Given the description of an element on the screen output the (x, y) to click on. 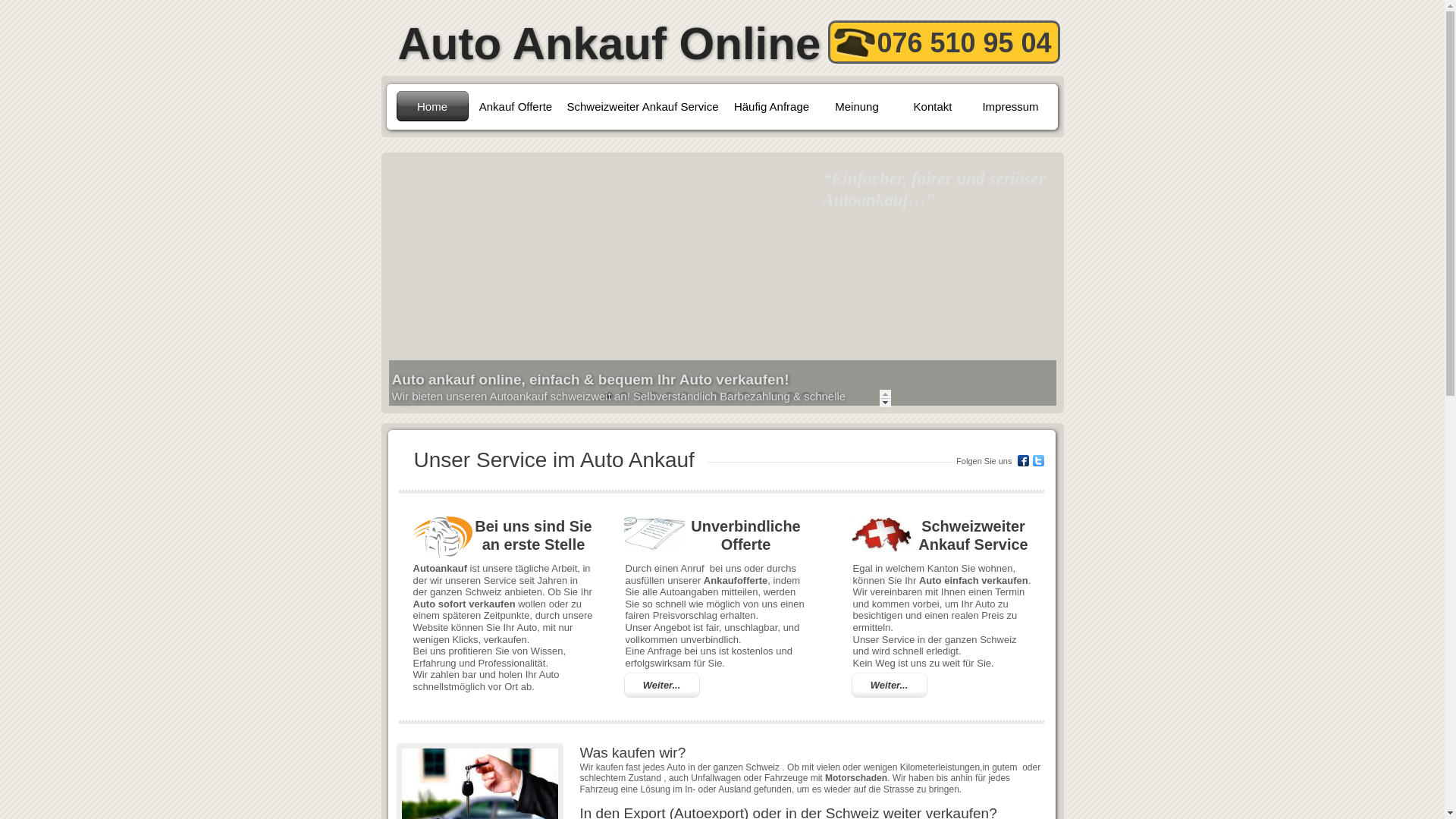
Kontakt Element type: text (932, 106)
Weiter... Element type: text (889, 684)
Ankauf Offerte Element type: text (514, 106)
Auto Ankauf offerte Element type: hover (653, 533)
Autoankauf Element type: hover (441, 538)
Impressum Element type: text (1010, 106)
Meinung Element type: text (856, 106)
Ankaufofferte Element type: text (735, 579)
Home Element type: text (431, 106)
Schweizweiter Ankauf Service Element type: text (641, 106)
Schweizweiter Ankauf Service Element type: text (642, 106)
Meinung Element type: text (856, 106)
Auto sofort verkaufen Element type: text (463, 602)
  Element type: text (381, 6)
Weiter... Element type: text (661, 684)
Ankauf Offerte Element type: text (515, 106)
Weiter... Element type: text (661, 684)
Home Element type: text (432, 106)
Autoankauf Element type: text (439, 567)
Autoankauf schweiz Element type: hover (880, 533)
Kontakt Element type: text (932, 106)
Motorschaden Element type: text (856, 776)
Weiter... Element type: text (888, 684)
Auto einfach verkaufen Element type: text (973, 579)
Impressum Element type: text (1010, 106)
